Given the description of an element on the screen output the (x, y) to click on. 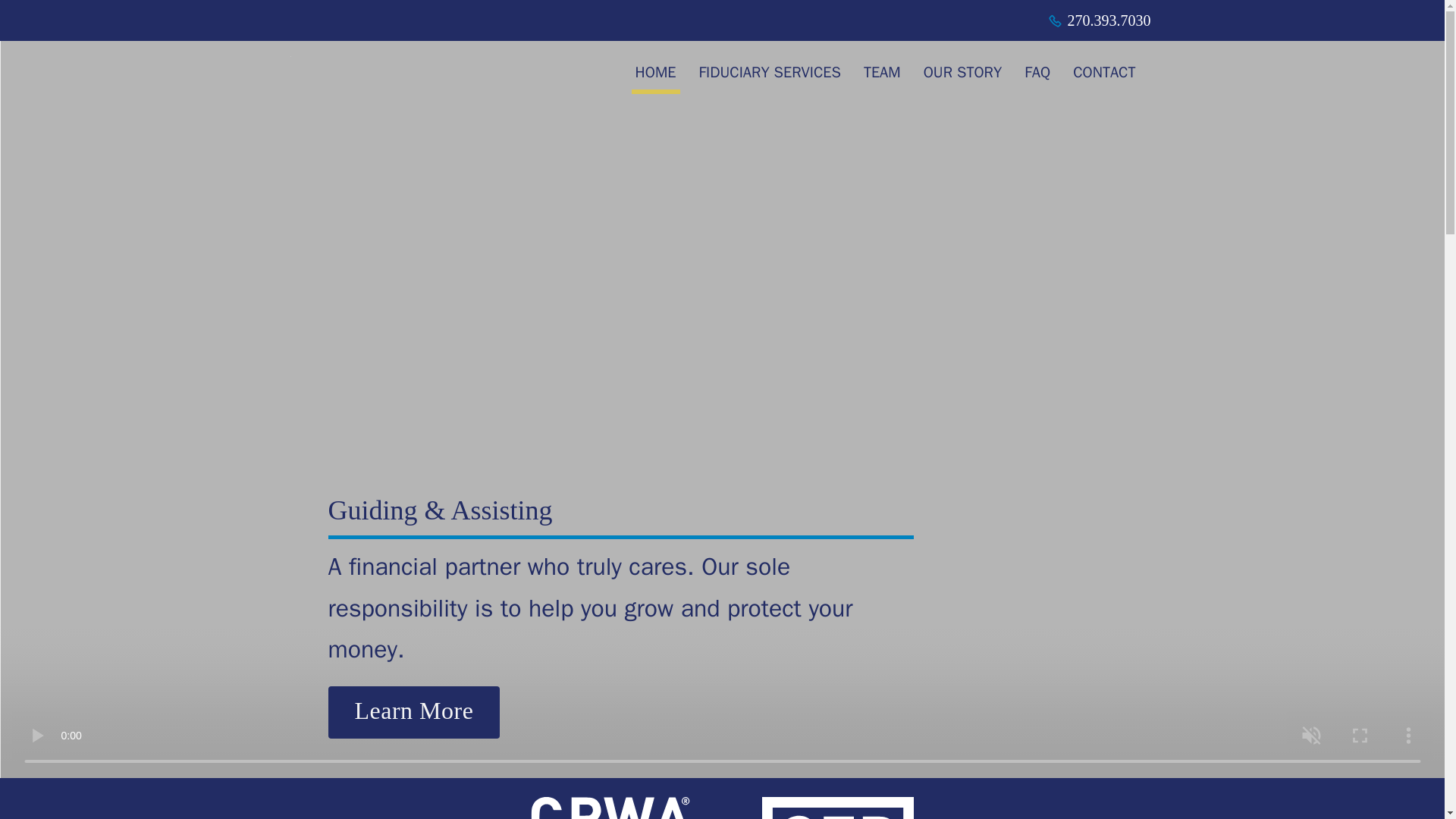
270.393.7030 (1099, 20)
TEAM (882, 75)
OUR STORY (963, 75)
HOME (655, 75)
Learn More (413, 712)
CONTACT (1103, 75)
FIDUCIARY SERVICES (769, 75)
